Given the description of an element on the screen output the (x, y) to click on. 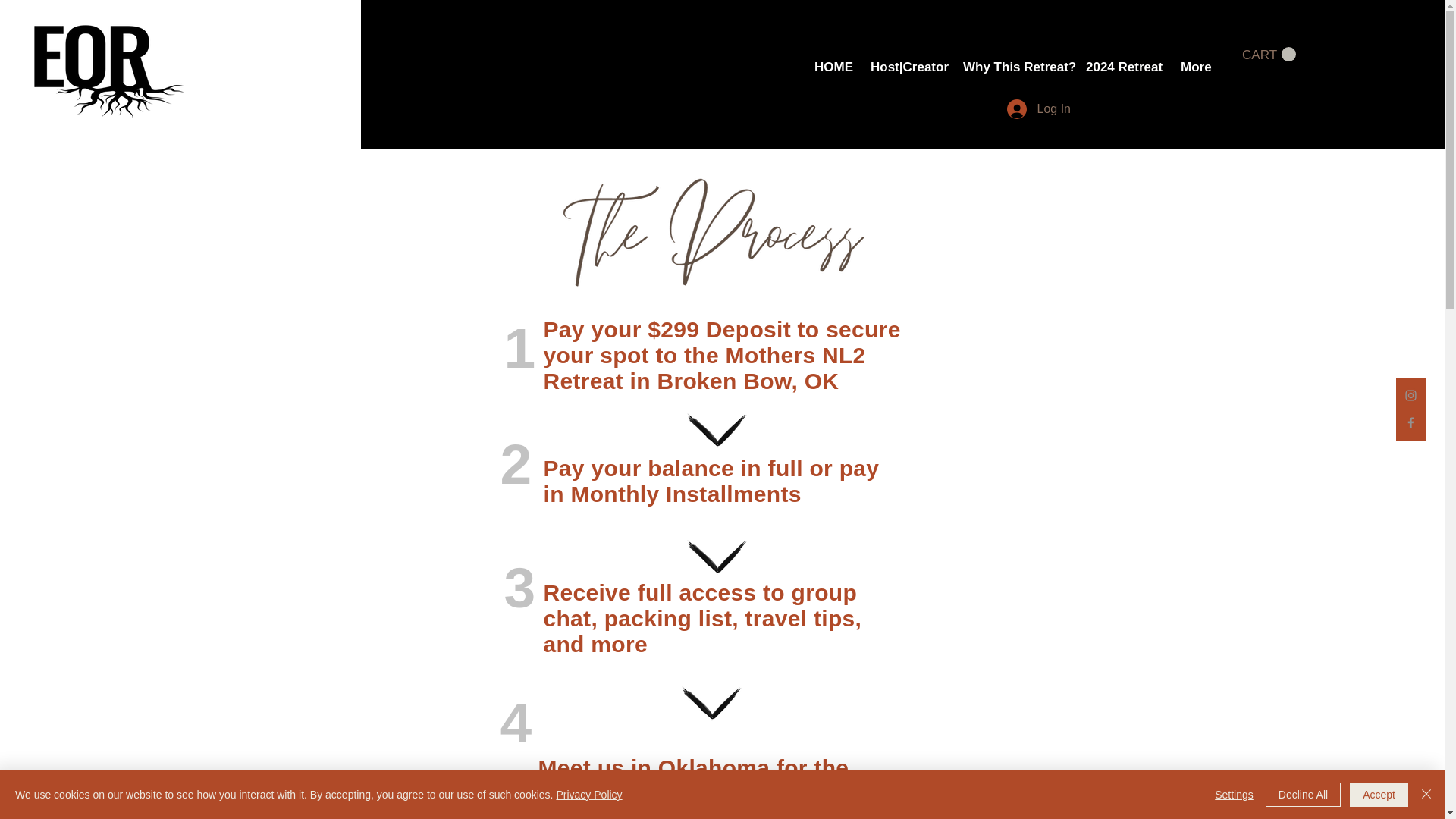
Privacy Policy (588, 794)
CART (1268, 54)
CART (1268, 54)
2024 Retreat (1121, 67)
Decline All (1302, 794)
Why This Retreat? (1013, 67)
Accept (1378, 794)
Log In (1038, 109)
HOME (831, 67)
